Given the description of an element on the screen output the (x, y) to click on. 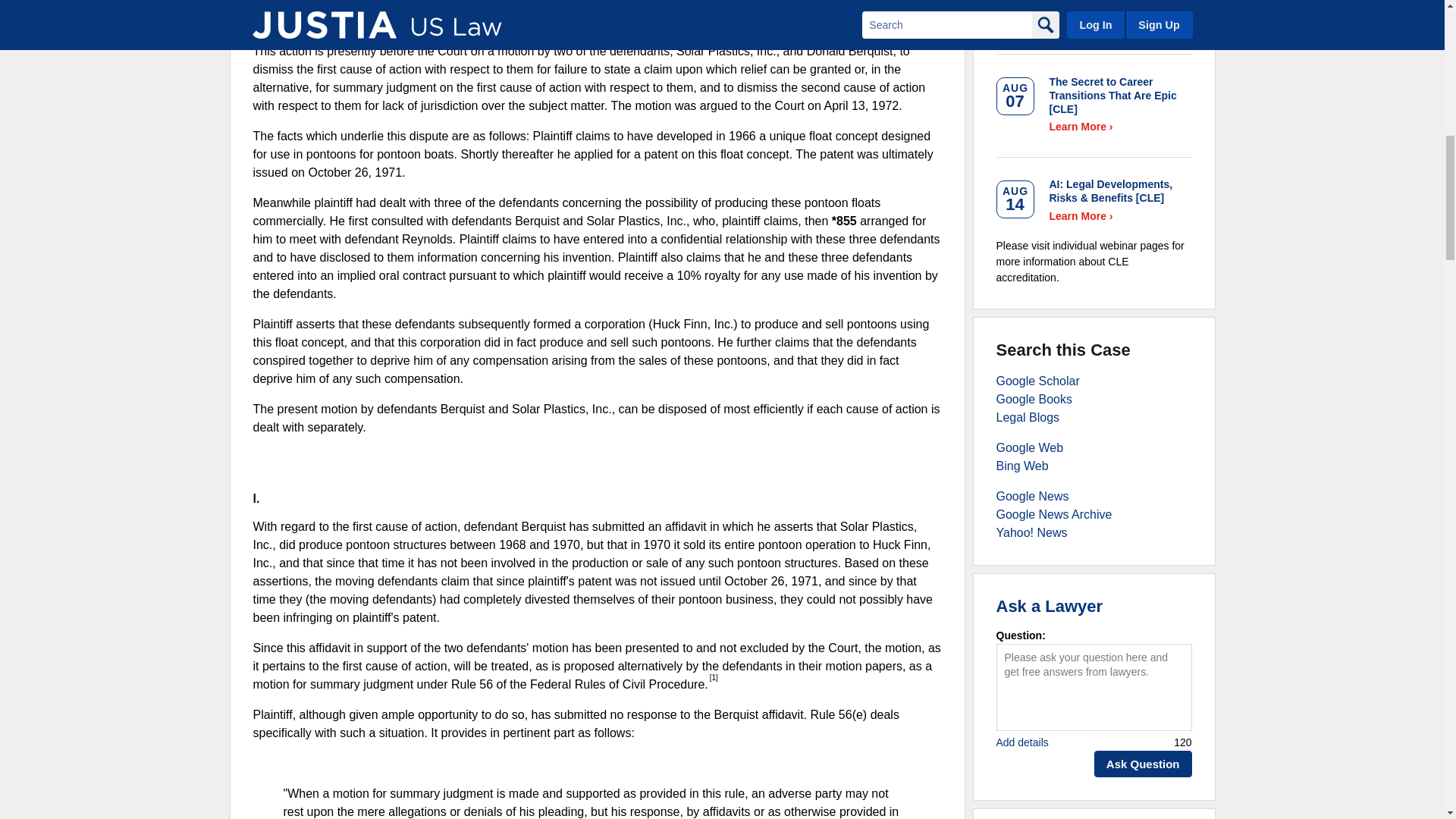
Law - Google News Archive (1053, 513)
Law - Google Books (1034, 399)
Law - Google Web (1029, 447)
Law - Legal Blogs (1027, 417)
Law - Google News (1031, 495)
Law - Yahoo! News (1031, 532)
Law - Google Scholar (1037, 380)
Law - Bing Web (1021, 465)
